Given the description of an element on the screen output the (x, y) to click on. 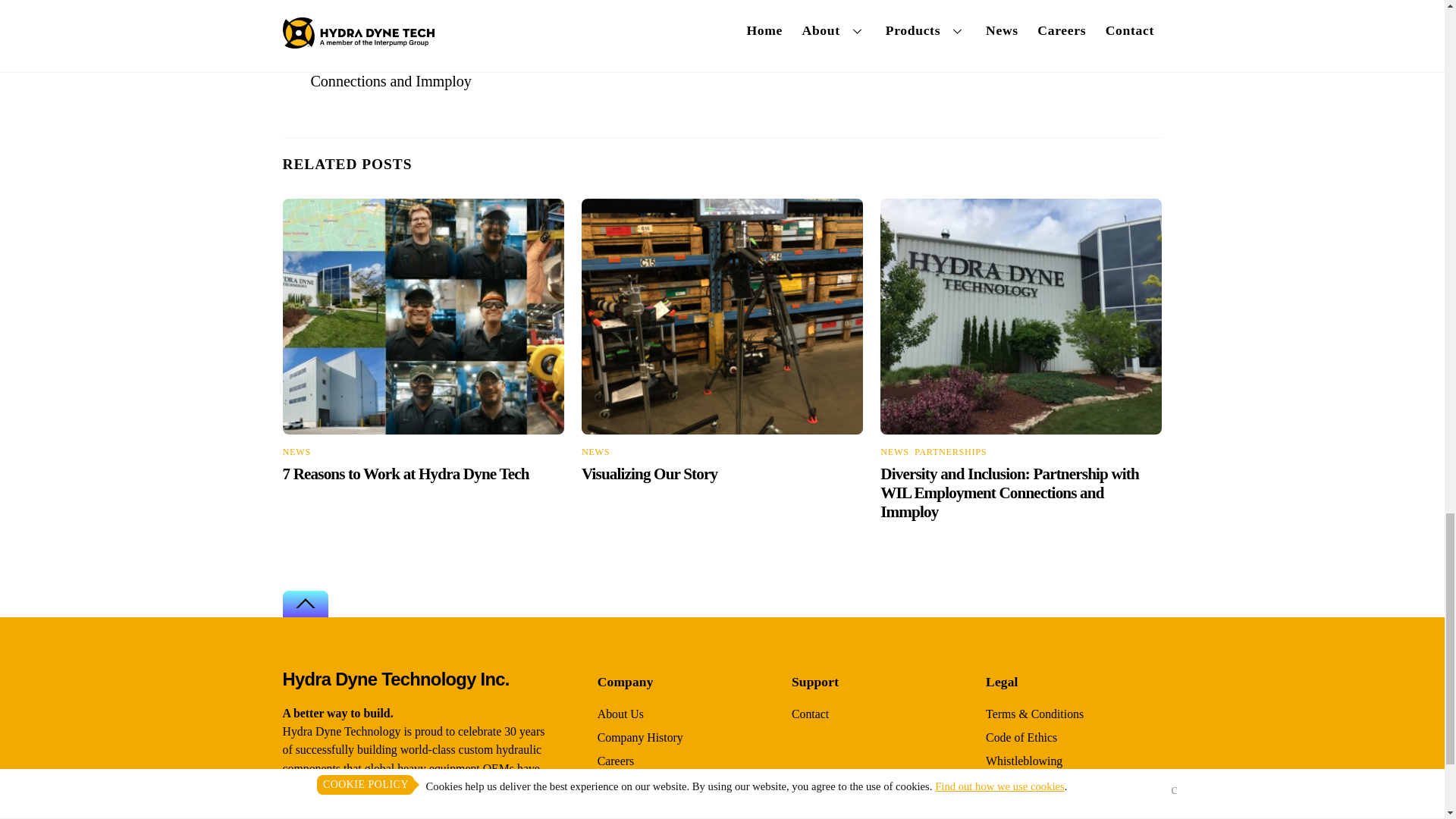
Hydra Dyne Technology Inc. (395, 679)
NEWS (595, 451)
NEWS (296, 451)
Video tour (721, 316)
Collage why work at HDT (422, 316)
Visualizing Our Story (648, 474)
7 Reasons to Work at Hydra Dyne Tech (405, 474)
Visualizing Our Story (941, 63)
NEWS (894, 451)
